Given the description of an element on the screen output the (x, y) to click on. 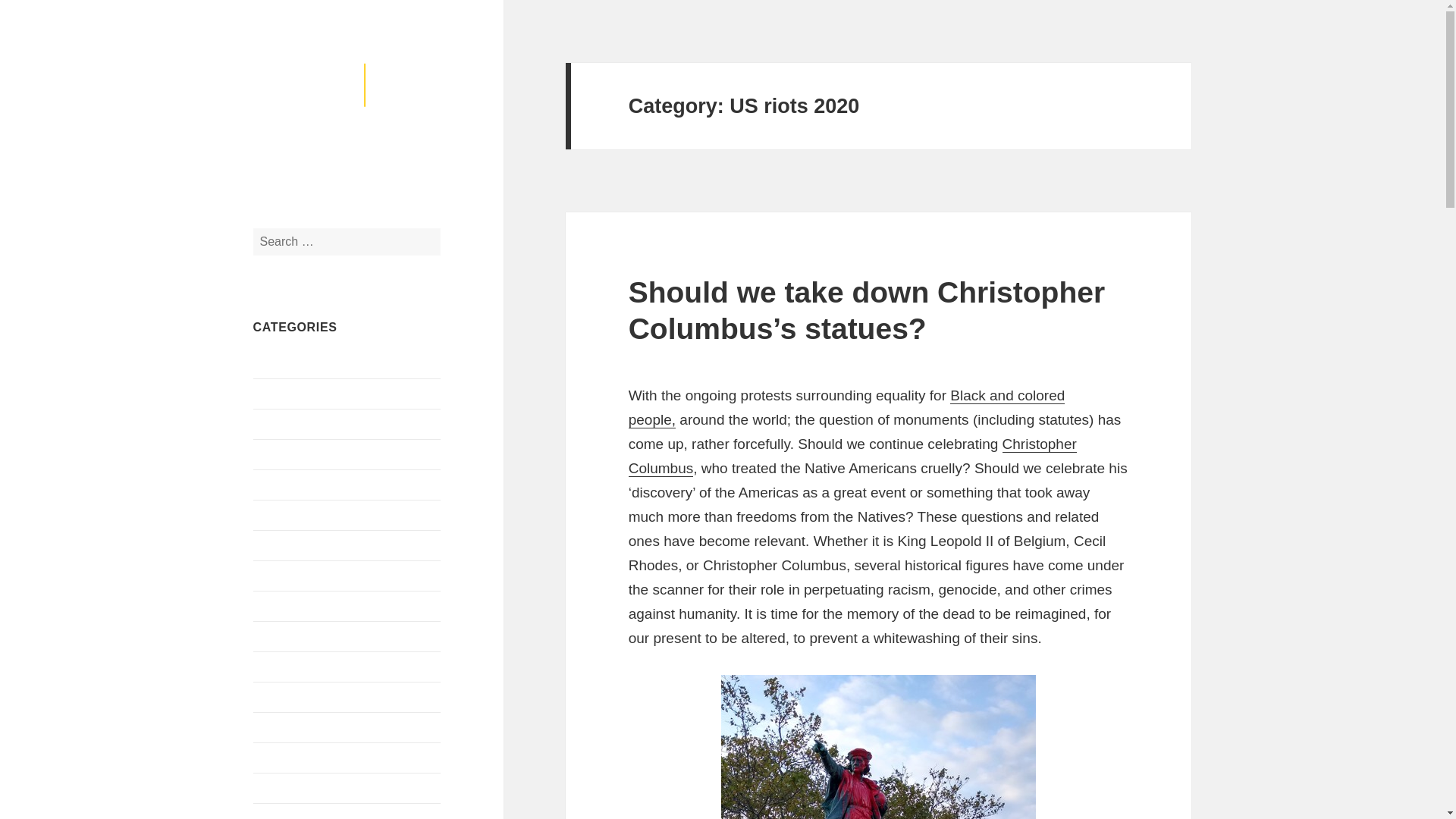
California Wildfires (303, 423)
Capstone Projects (302, 454)
Education (280, 666)
Book Review (288, 363)
Career Paths (288, 484)
Housing Policy (293, 788)
Environmental Justice (312, 697)
How To Series (292, 815)
The Public Sphere (342, 128)
